Given the description of an element on the screen output the (x, y) to click on. 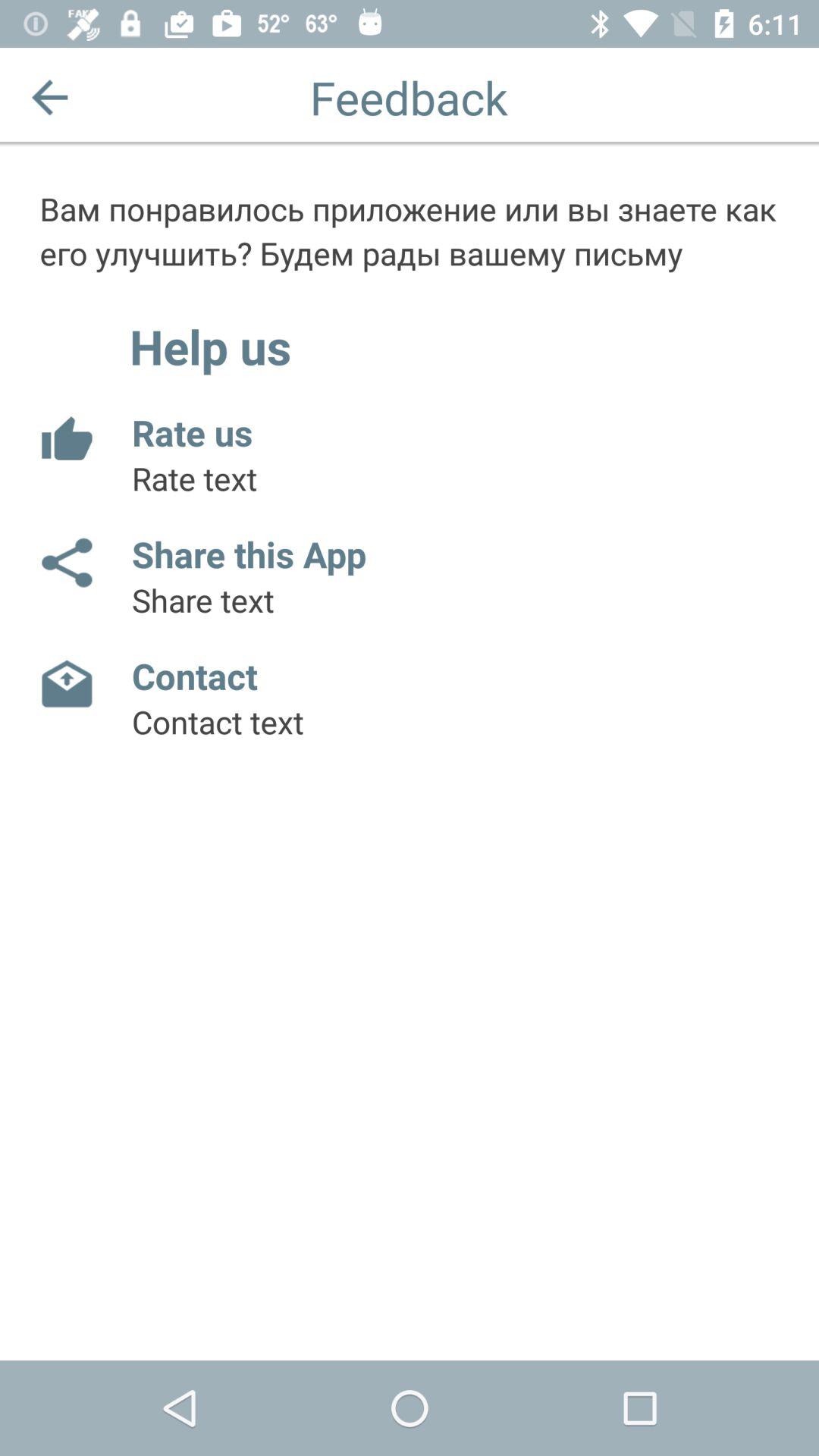
write an email (65, 684)
